Given the description of an element on the screen output the (x, y) to click on. 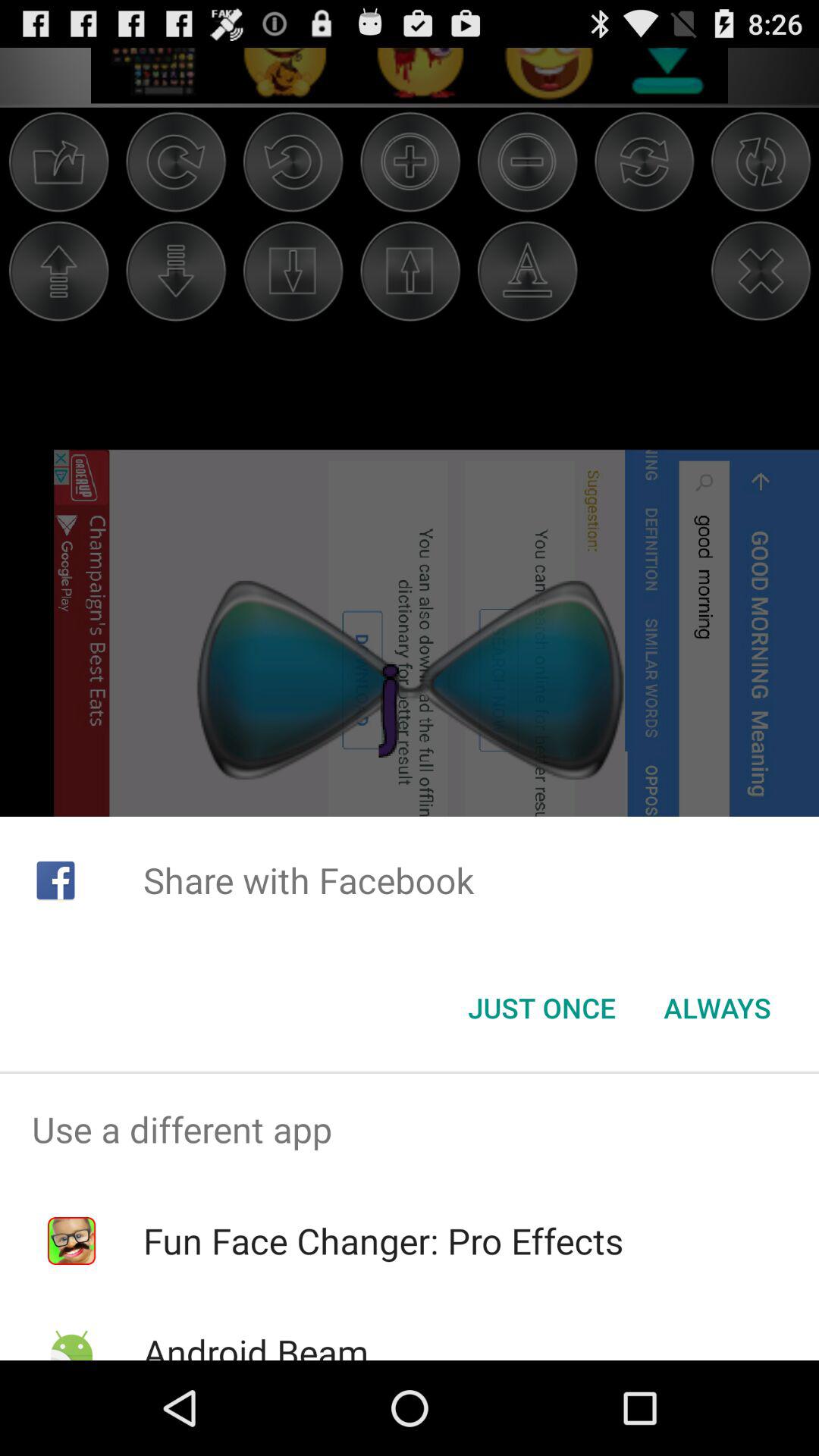
scroll until use a different app (409, 1129)
